Given the description of an element on the screen output the (x, y) to click on. 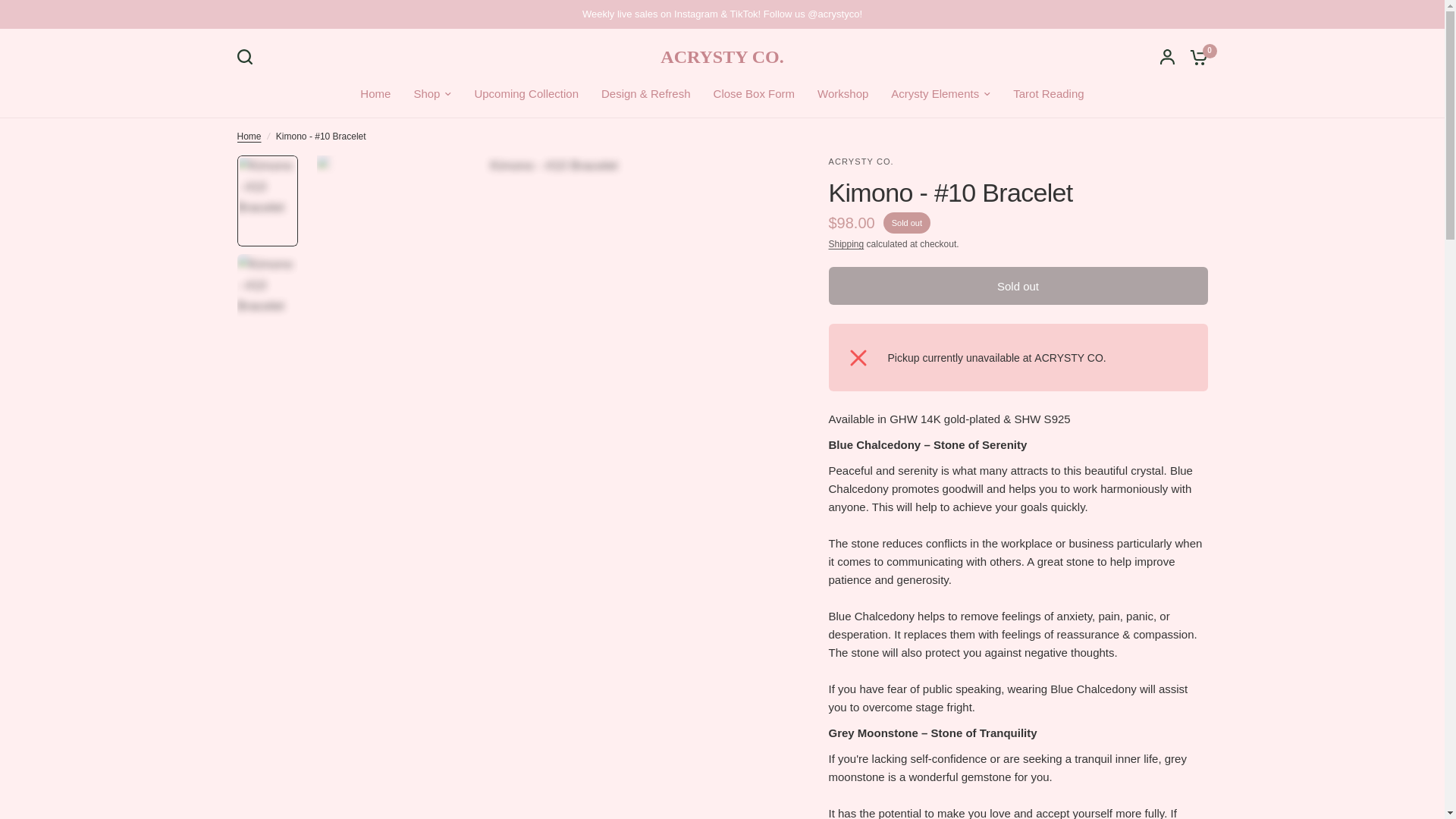
ACRYSTY CO. (722, 56)
